Given the description of an element on the screen output the (x, y) to click on. 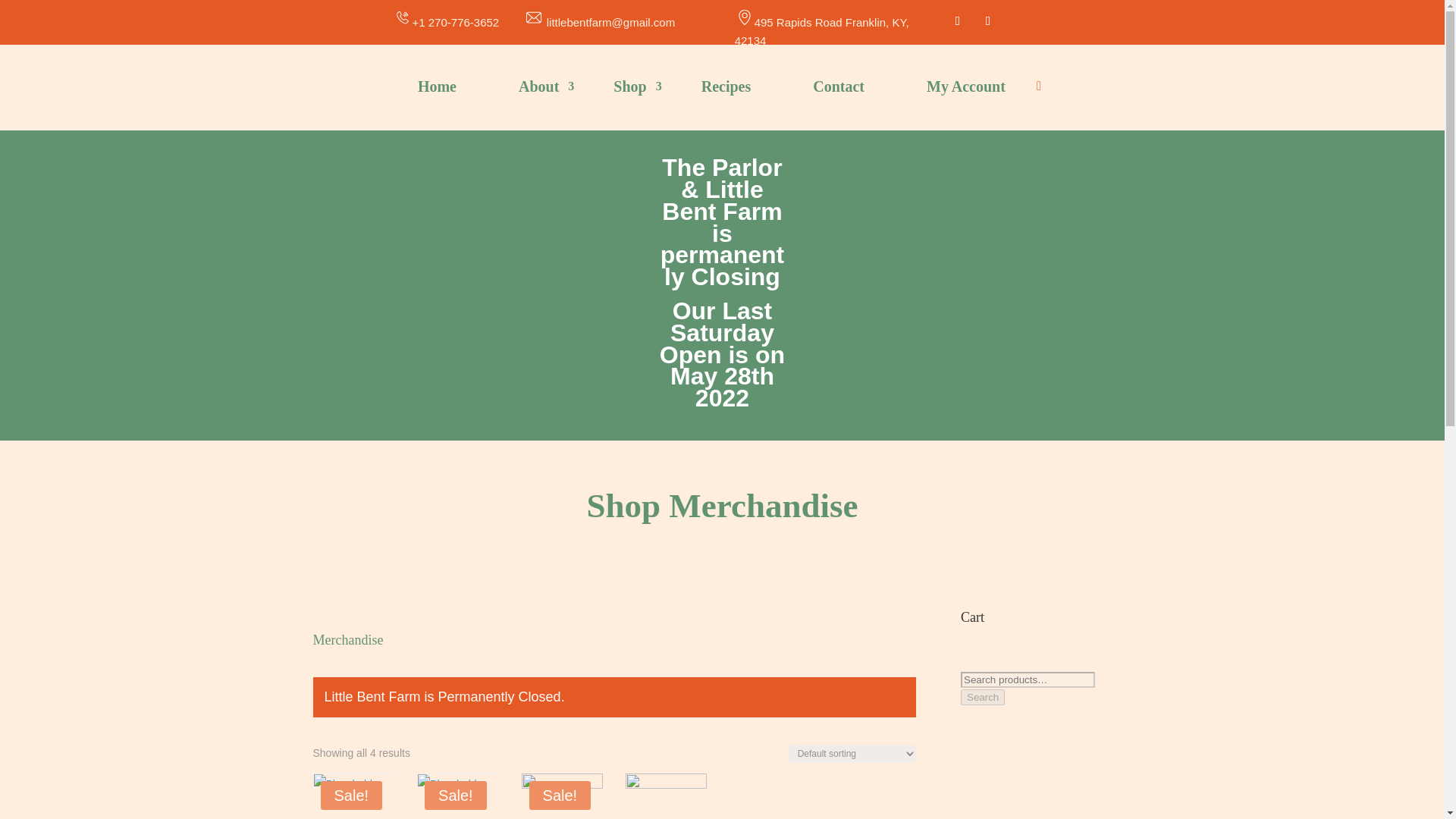
Home (436, 89)
About (534, 89)
Recipes (726, 89)
Call with Google Voice (446, 21)
Follow on Facebook (956, 21)
Shop (626, 89)
My Account (965, 89)
Search (982, 697)
Follow on Instagram (987, 21)
Contact (838, 89)
